Given the description of an element on the screen output the (x, y) to click on. 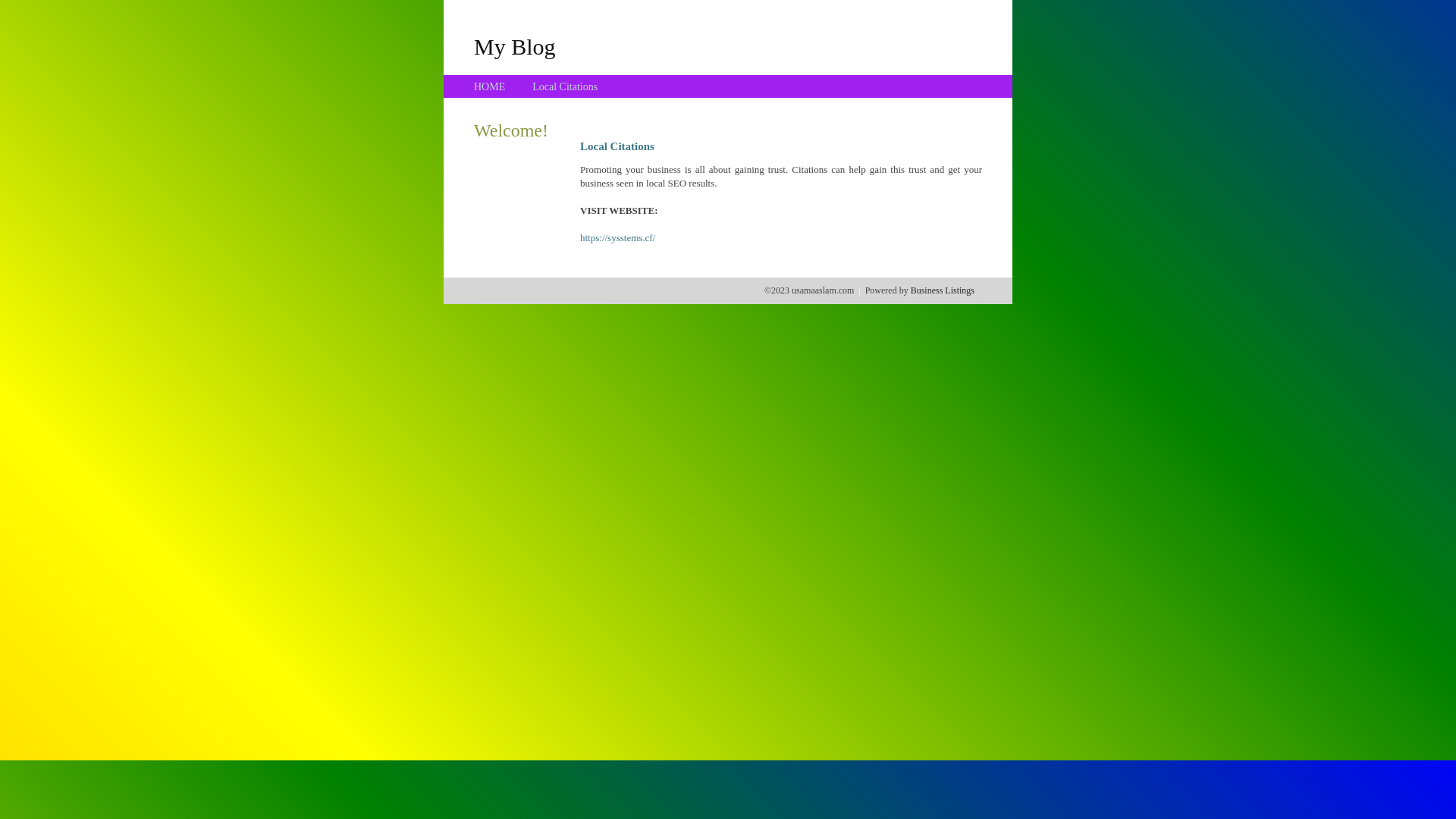
My Blog Element type: text (514, 46)
HOME Element type: text (489, 86)
https://sysstems.cf/ Element type: text (617, 237)
Local Citations Element type: text (564, 86)
Business Listings Element type: text (942, 290)
